Given the description of an element on the screen output the (x, y) to click on. 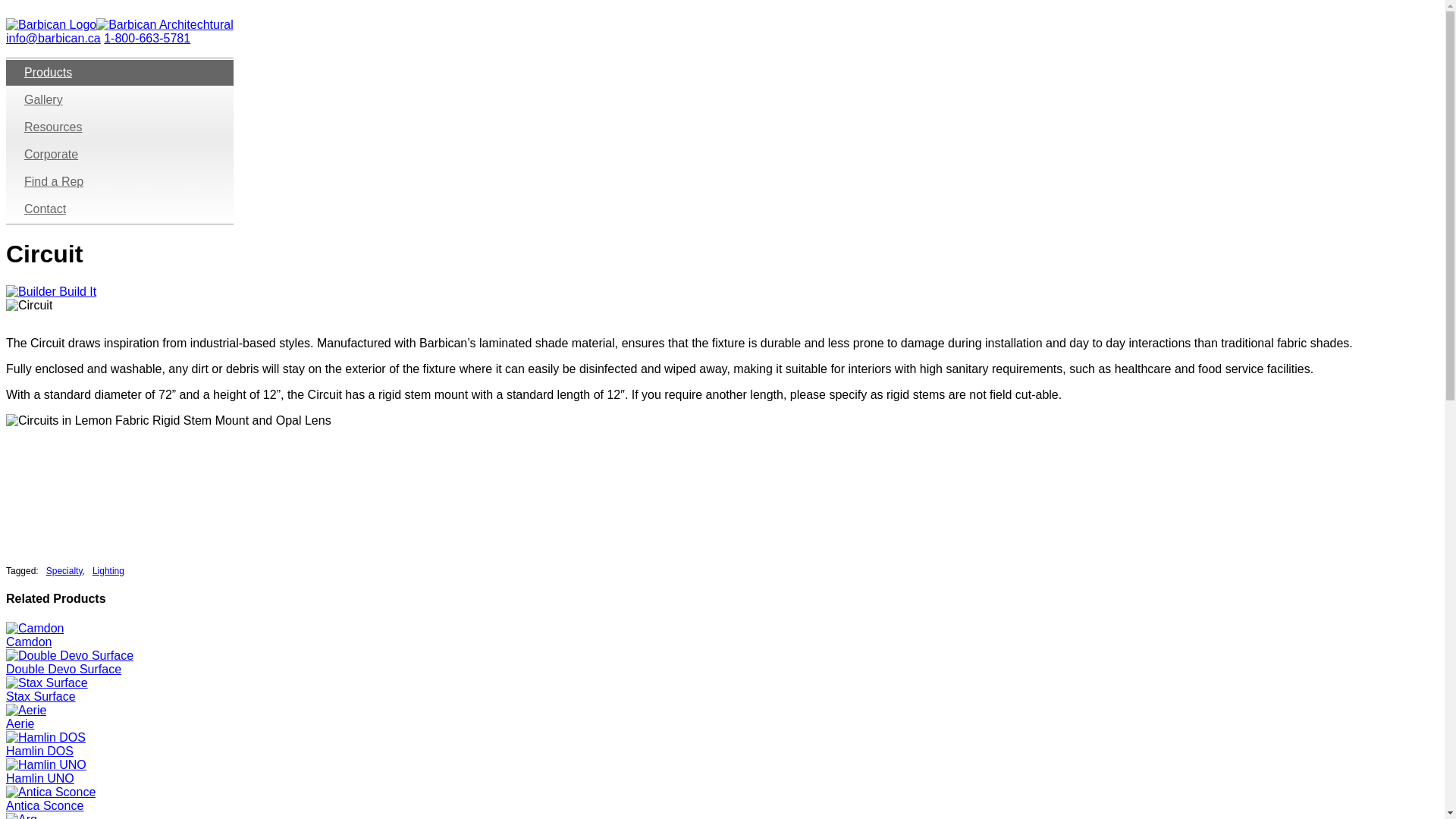
Contact (118, 208)
Build It (50, 291)
Products (118, 72)
Stax Surface (40, 696)
Hamlin UNO (39, 778)
Find a Rep (118, 181)
Specialty (64, 570)
Double Devo Surface (62, 668)
Gallery (118, 99)
Resources (118, 127)
Aerie (19, 723)
Camdon (27, 641)
Corporate (118, 154)
Lighting (108, 570)
Antica Sconce (43, 805)
